Given the description of an element on the screen output the (x, y) to click on. 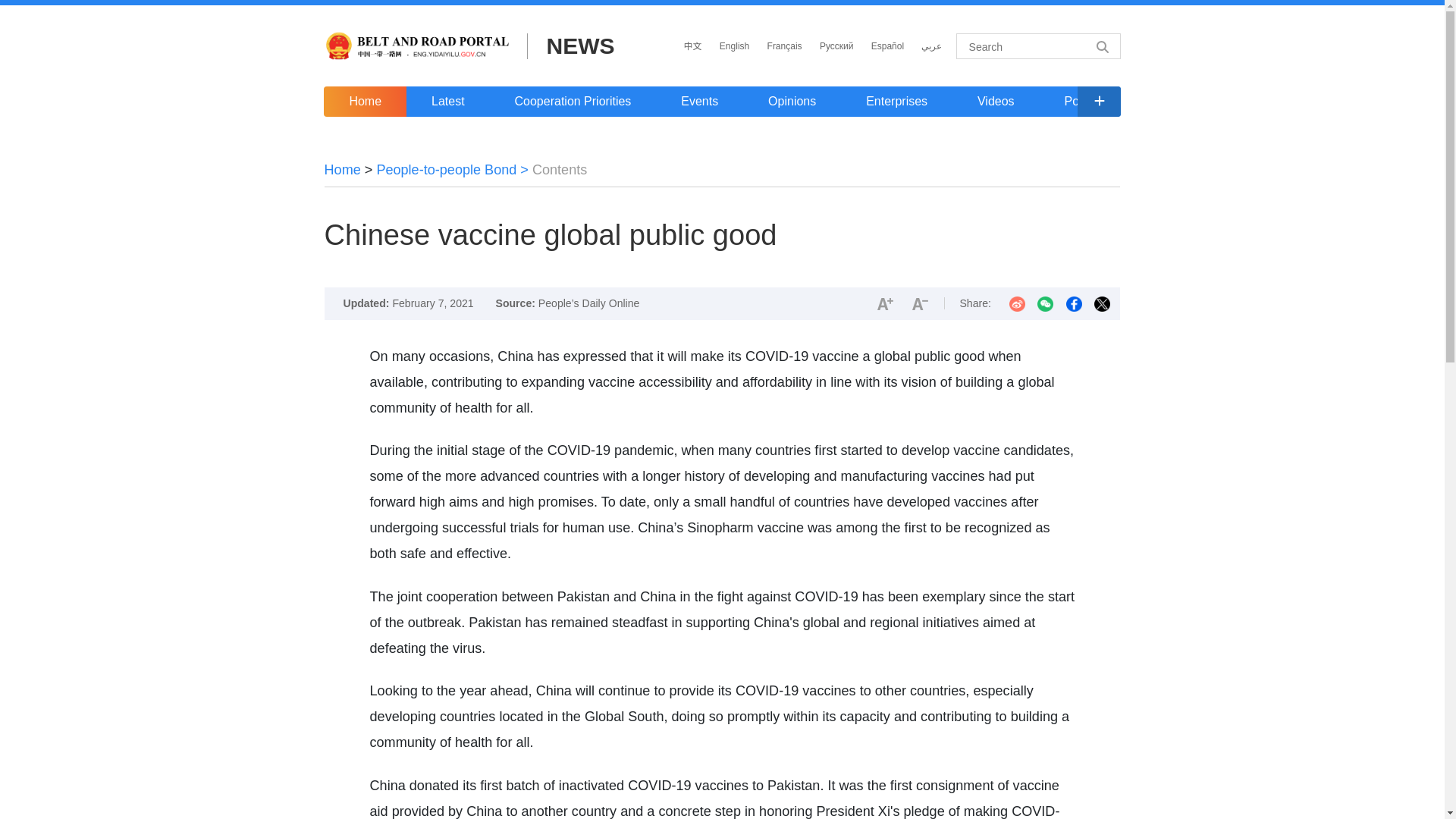
Events (699, 101)
Home (342, 169)
Cooperation Priorities (572, 101)
Home (364, 101)
Facilities Connectivity (1276, 101)
Opinions (791, 101)
Latest (447, 101)
Enterprises (896, 101)
Videos (995, 101)
English (734, 46)
Policy Coordination (1116, 101)
